Given the description of an element on the screen output the (x, y) to click on. 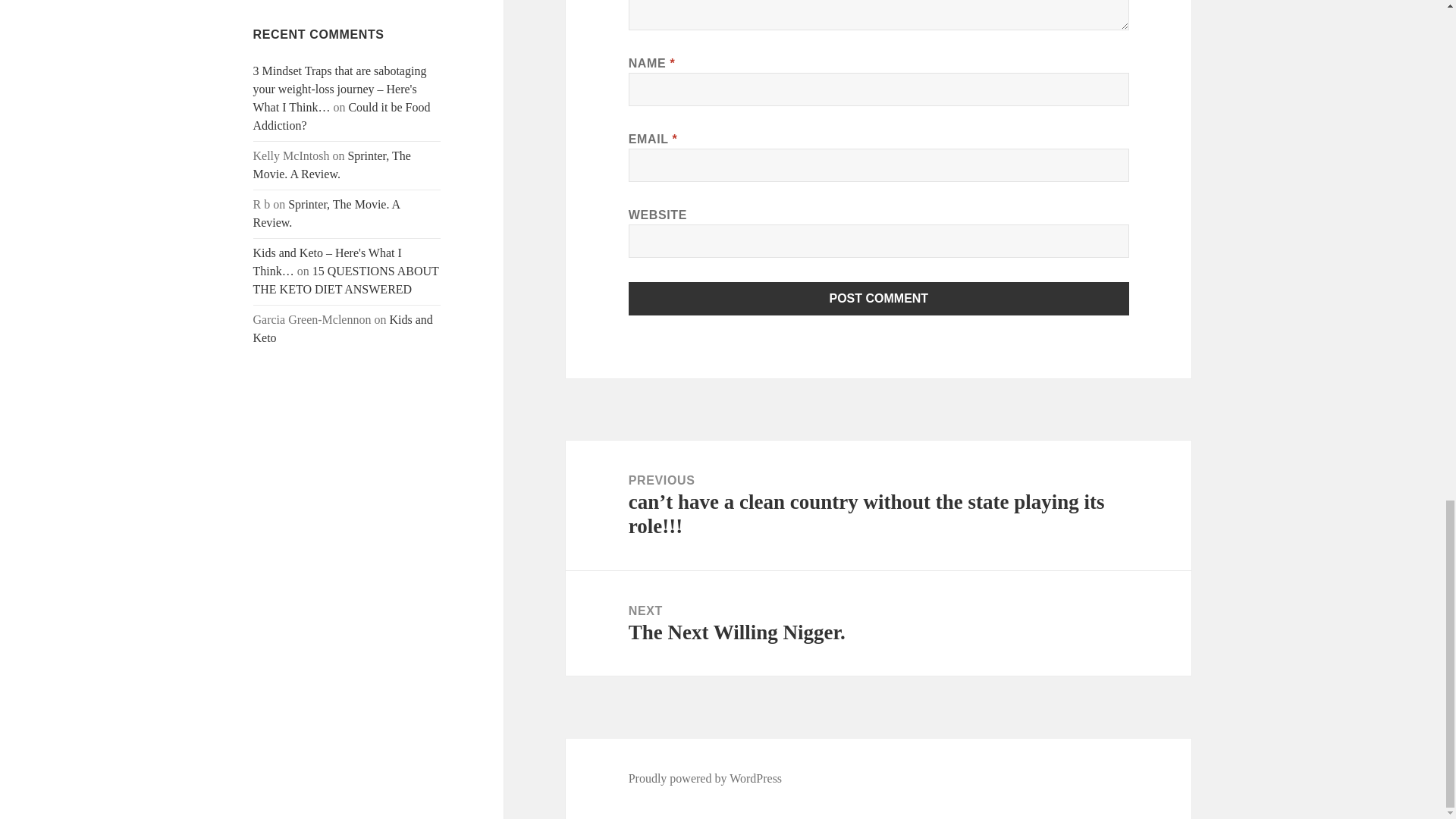
Sprinter, The Movie. A Review. (331, 164)
Sprinter, The Movie. A Review. (326, 213)
Kids and Keto (342, 327)
Post Comment (878, 298)
15 QUESTIONS ABOUT THE KETO DIET ANSWERED (346, 279)
Could it be Food Addiction? (341, 115)
